Given the description of an element on the screen output the (x, y) to click on. 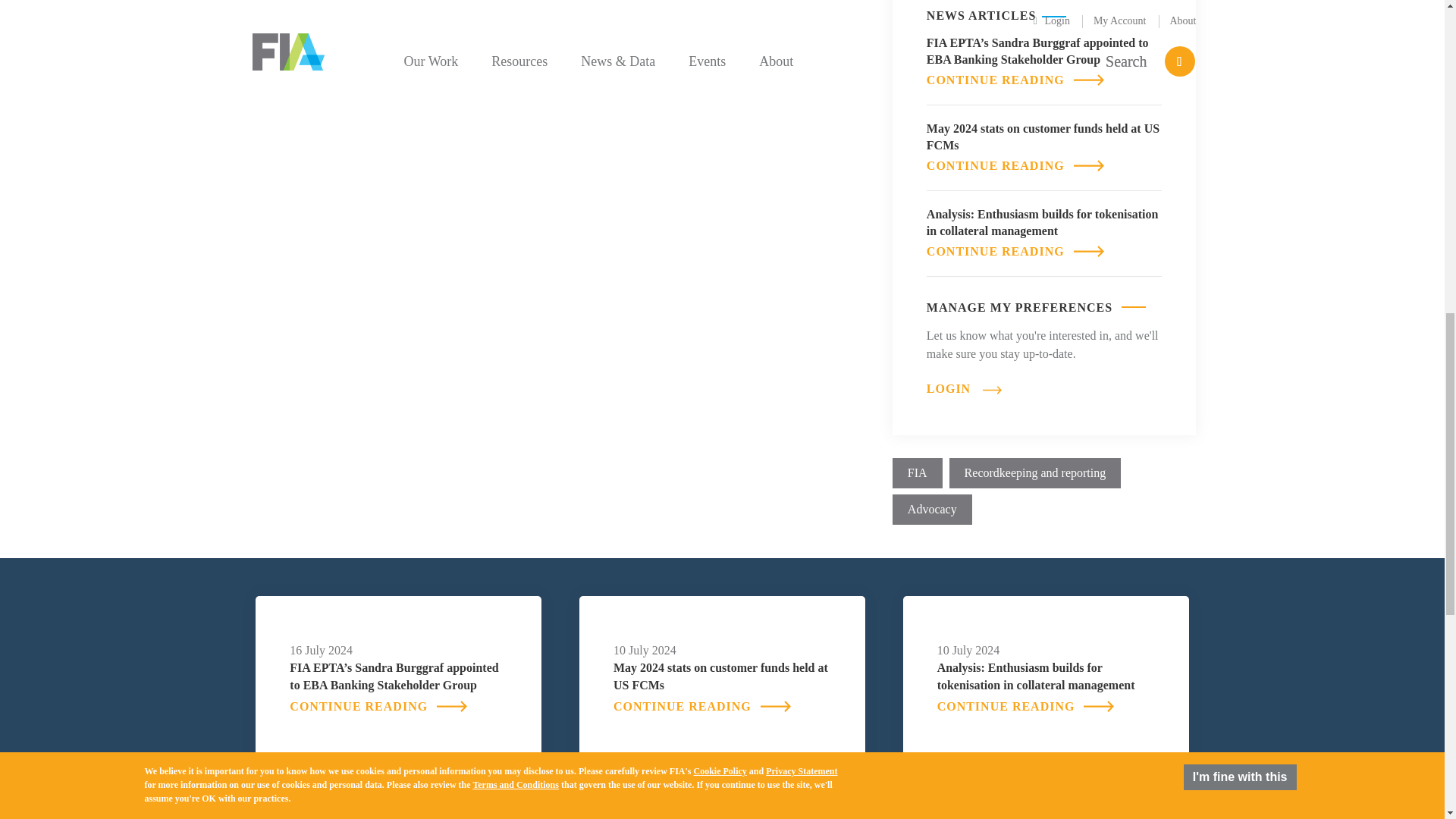
CONTINUE READING (1014, 79)
CONTINUE READING (1014, 164)
